Given the description of an element on the screen output the (x, y) to click on. 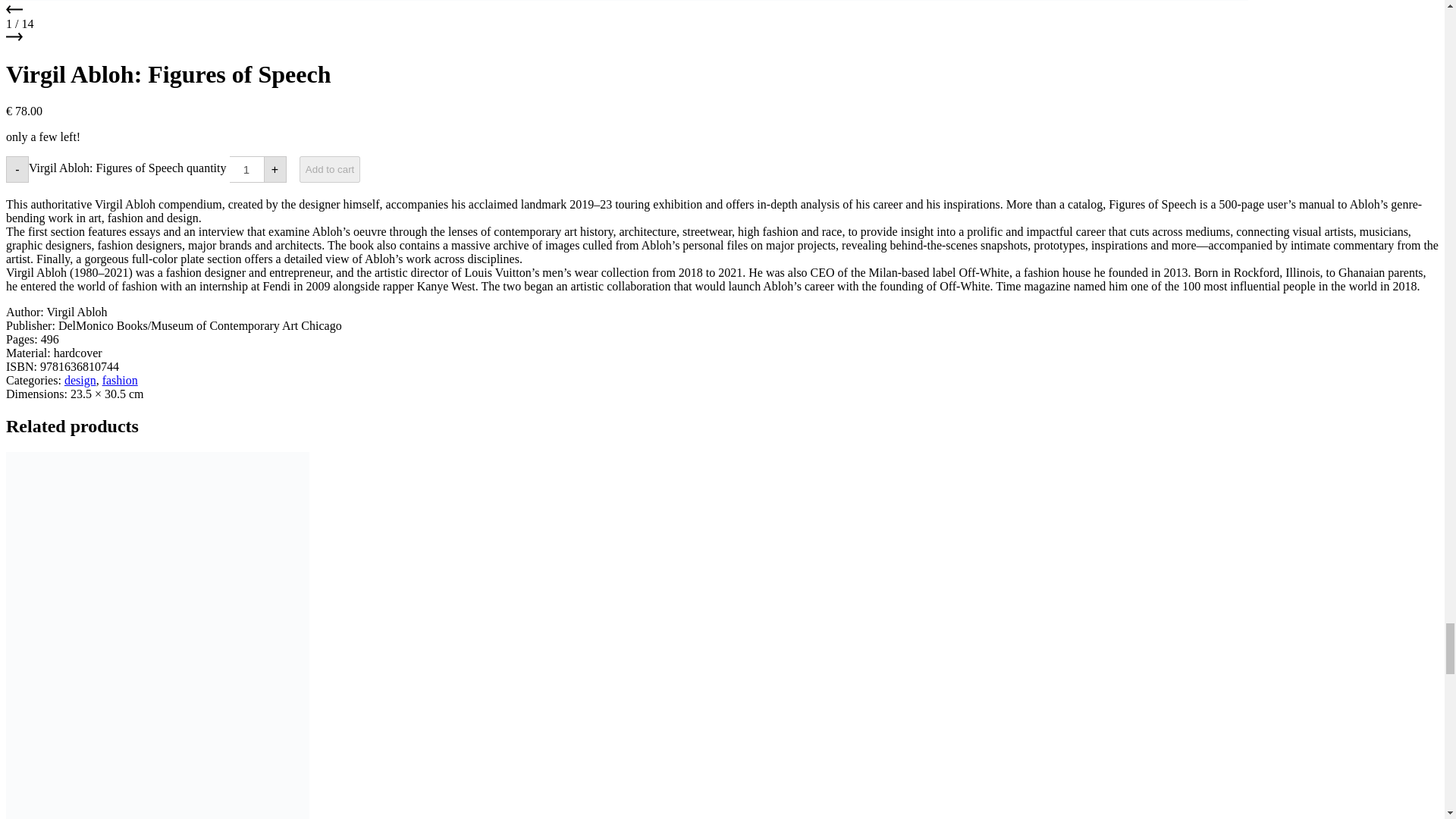
design (80, 379)
Add to cart (329, 169)
fashion (119, 379)
Qty (245, 169)
- (17, 169)
1 (245, 169)
